Given the description of an element on the screen output the (x, y) to click on. 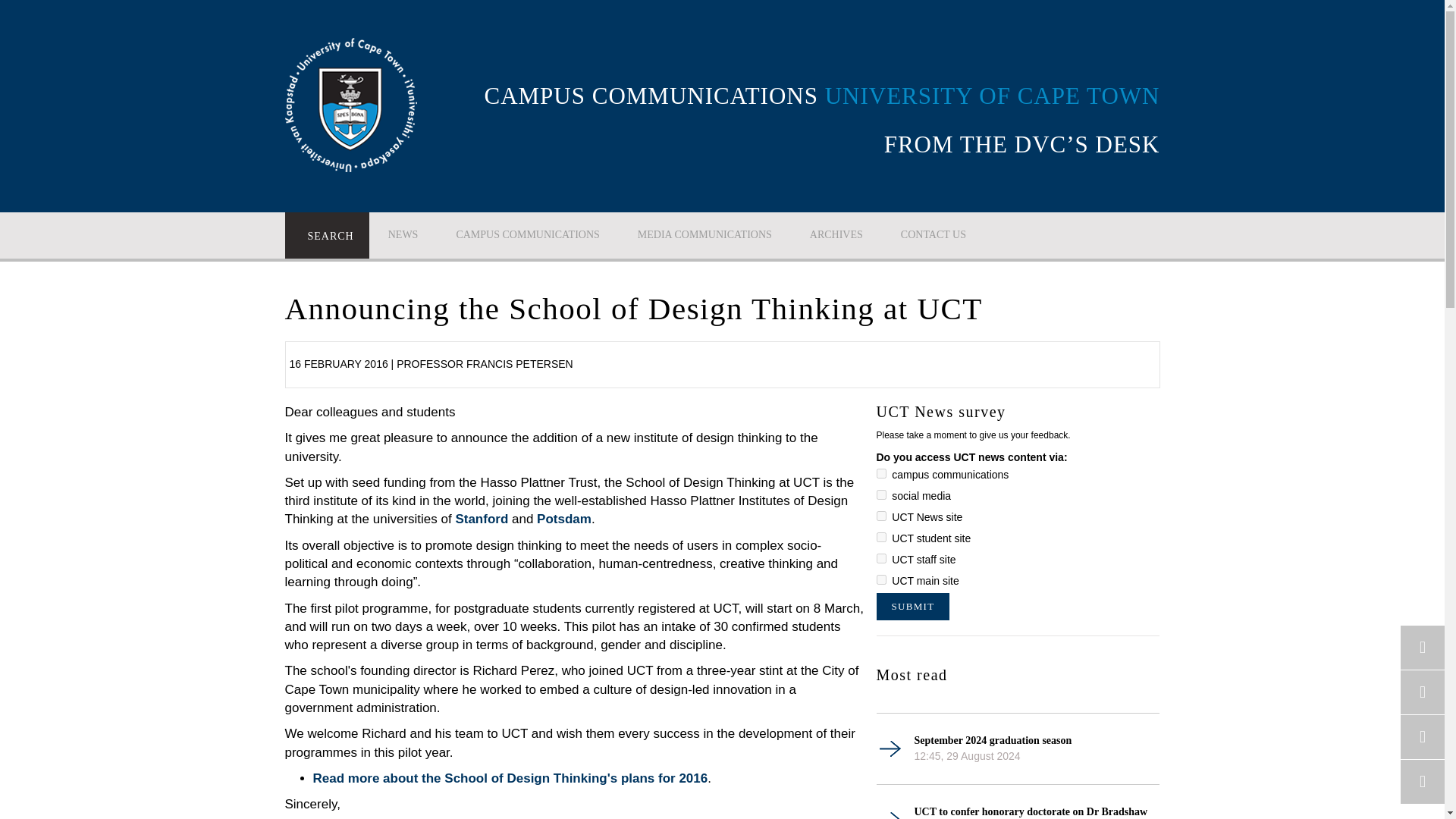
SEARCH (327, 235)
Potsdam (564, 518)
ARCHIVES (836, 234)
21 (881, 494)
MEDIA COMMUNICATIONS (704, 234)
25 (881, 579)
CONTACT US (933, 234)
NEWS (403, 234)
24 (881, 558)
